Given the description of an element on the screen output the (x, y) to click on. 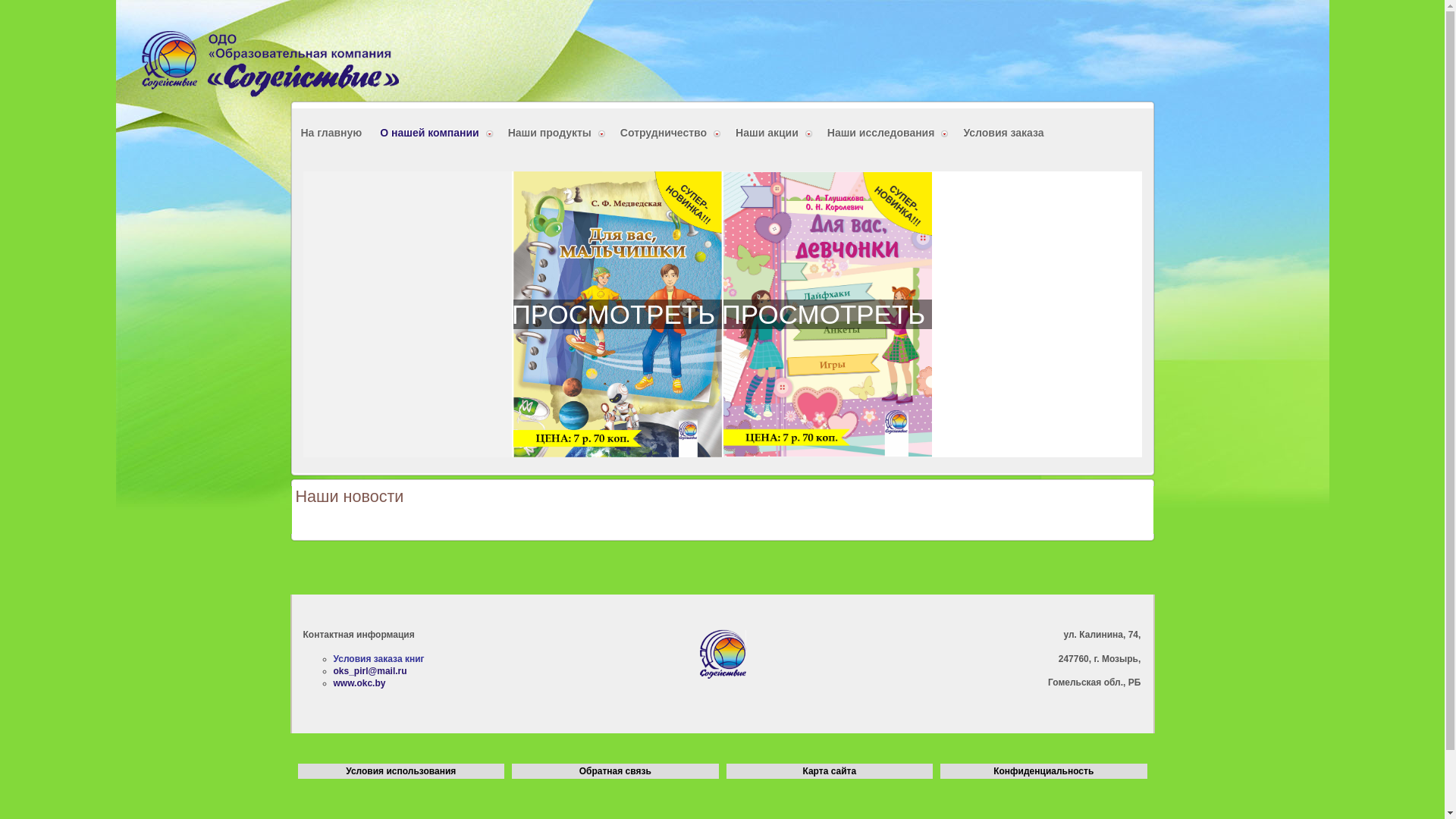
oks_pirl@mail.ru Element type: text (370, 670)
www.okc.by Element type: text (359, 682)
